Given the description of an element on the screen output the (x, y) to click on. 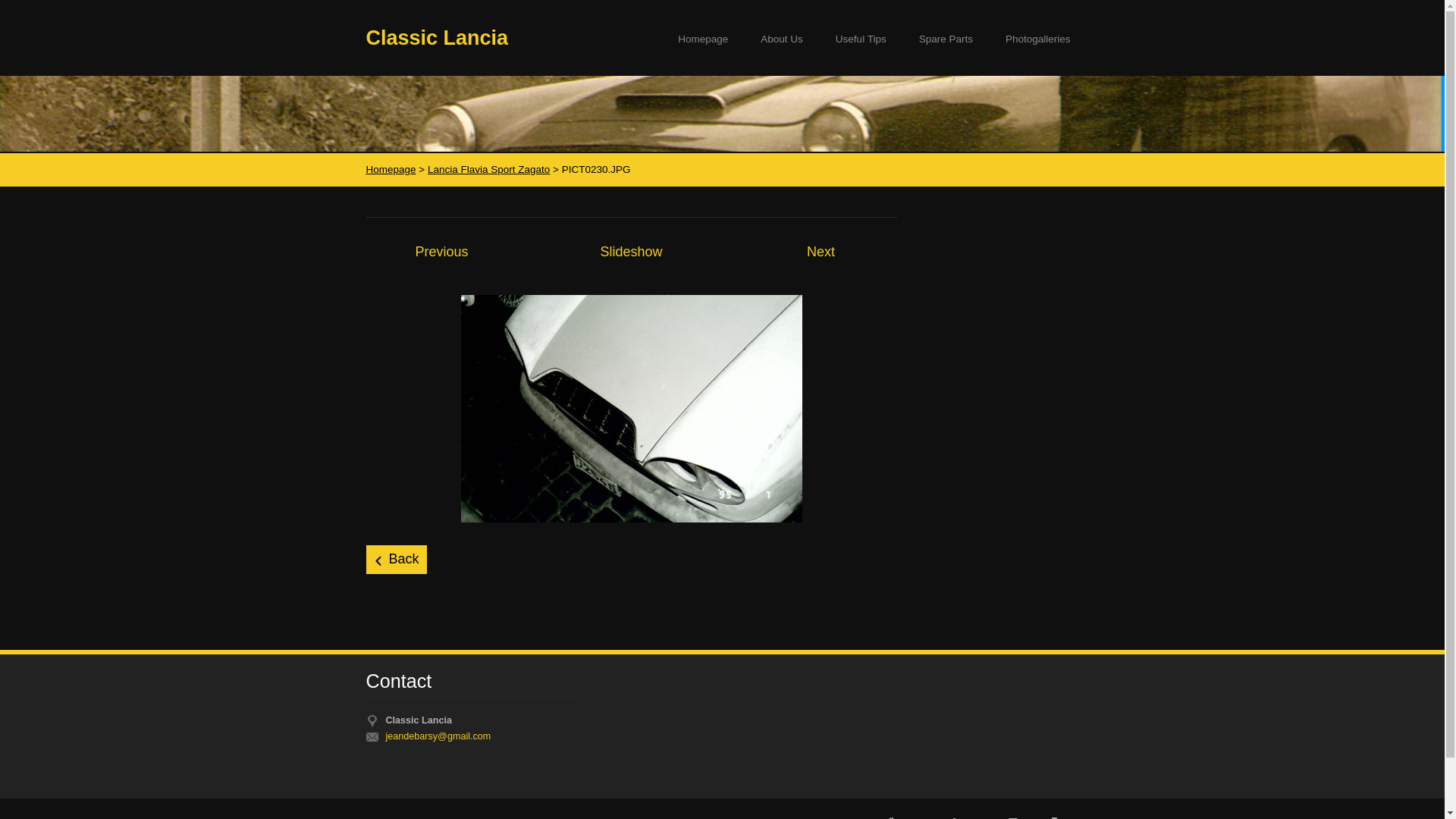
Useful Tips Element type: text (860, 39)
Previous Element type: text (440, 251)
Photogalleries Element type: text (1037, 39)
Back Element type: text (395, 559)
Lancia Flavia Sport Zagato Element type: text (488, 169)
Classic Lancia Element type: text (436, 34)
Spare Parts Element type: text (945, 39)
Homepage Element type: text (702, 39)
About Us Element type: text (781, 39)
Next Element type: text (820, 251)
Slideshow Element type: text (630, 251)
Homepage Element type: text (390, 169)
Page will display in a new window. Element type: hover (631, 407)
jeandebarsy@gmail.com Element type: text (481, 736)
